Given the description of an element on the screen output the (x, y) to click on. 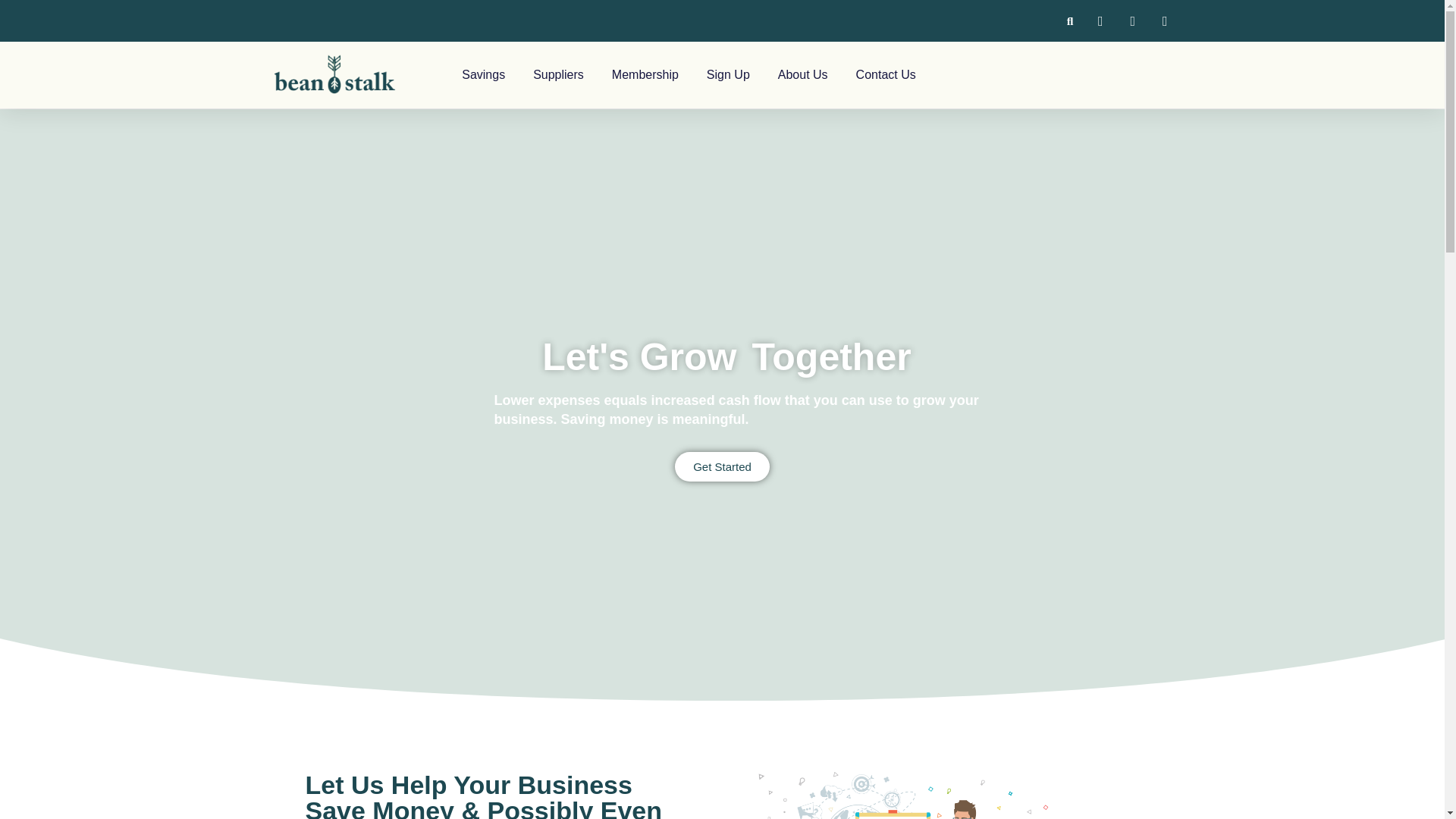
Sign Up (727, 74)
Membership (644, 74)
About Us (802, 74)
Savings (483, 74)
Contact Us (885, 74)
Get Started (722, 466)
Suppliers (557, 74)
